Given the description of an element on the screen output the (x, y) to click on. 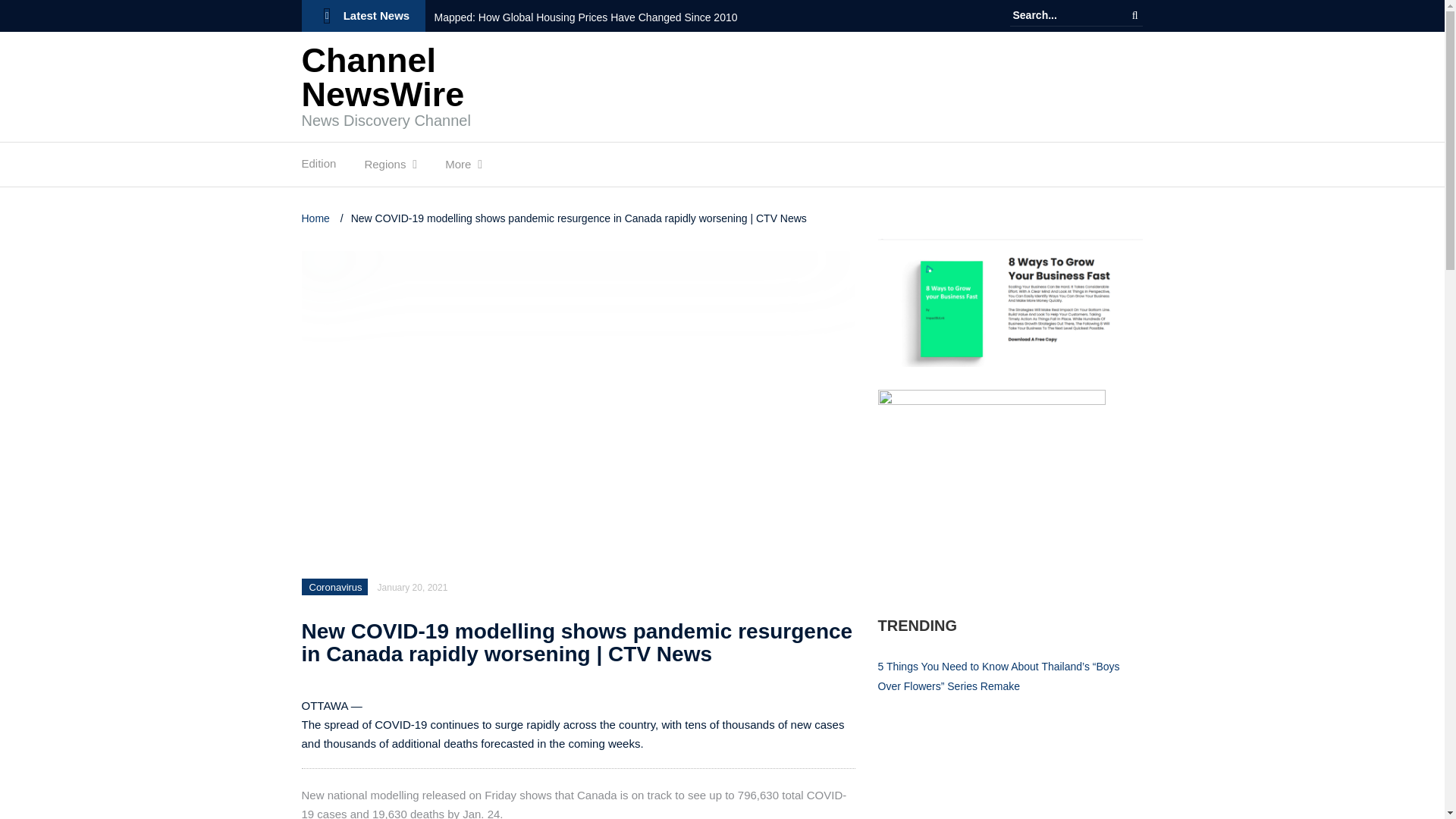
Search   (1134, 14)
Edition (318, 166)
Mapped: How Global Housing Prices Have Changed Since 2010 (596, 17)
More (457, 167)
Coronavirus (335, 586)
Home (317, 218)
Regions (385, 167)
Channel NewsWire (382, 76)
